Given the description of an element on the screen output the (x, y) to click on. 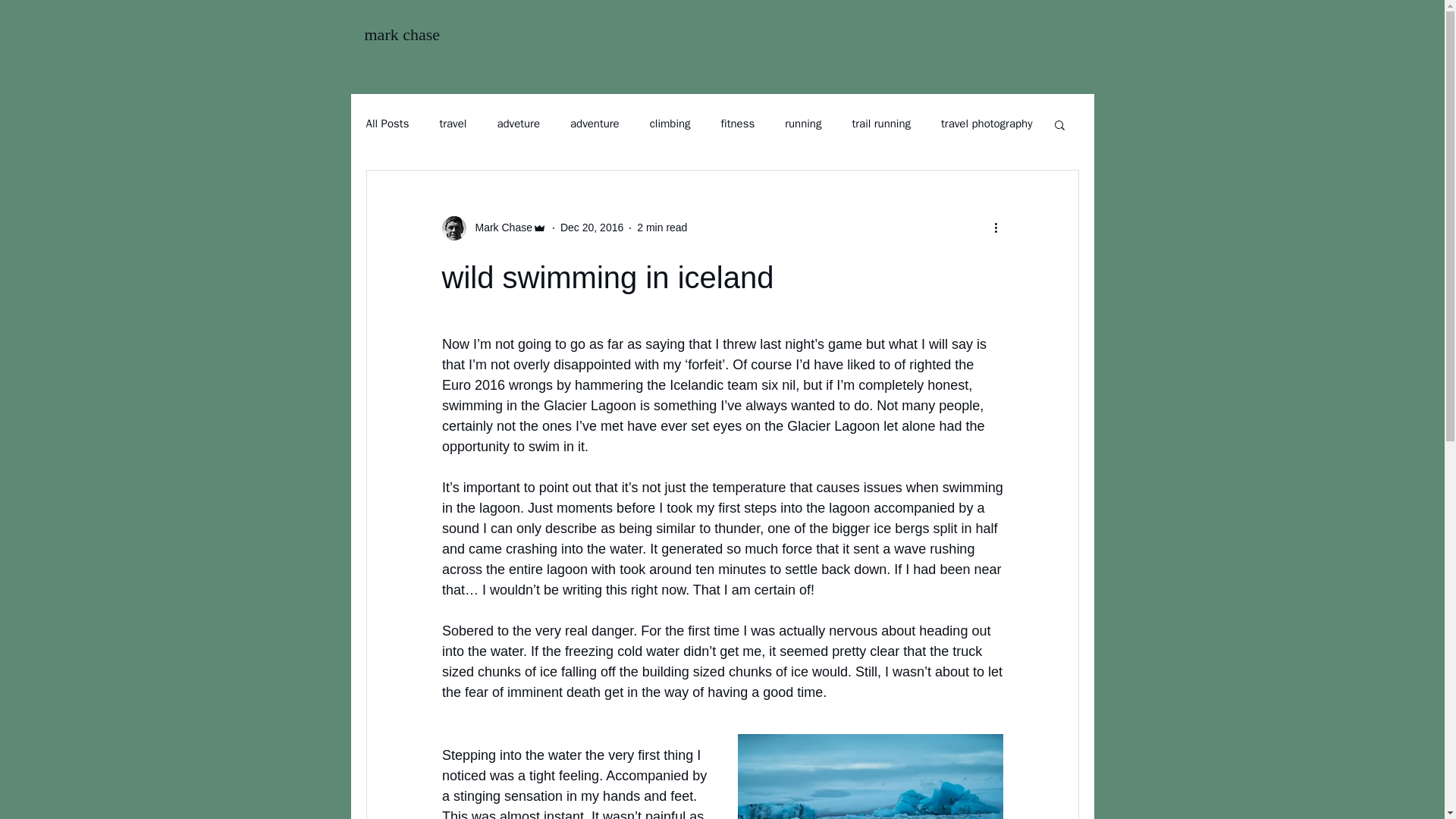
travel photography (986, 124)
adveture (518, 124)
Mark Chase (498, 227)
adventure (595, 124)
climbing (669, 124)
running (802, 124)
trail running (881, 124)
2 min read (662, 227)
All Posts (387, 124)
Dec 20, 2016 (591, 227)
